Given the description of an element on the screen output the (x, y) to click on. 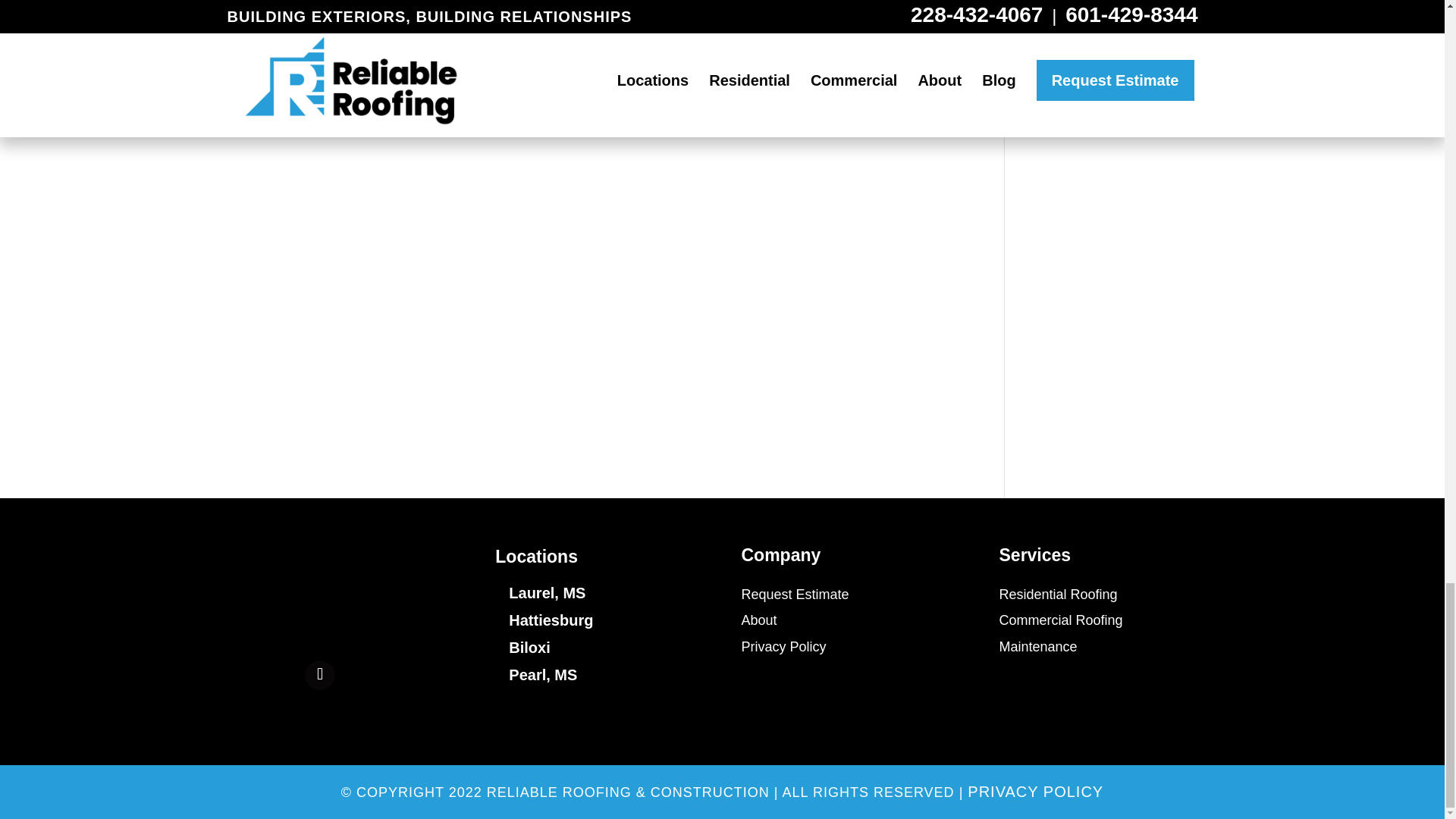
Privacy Policy (784, 646)
Commercial Roofing (1060, 620)
Maintenance (1037, 646)
Laurel, MS (546, 592)
Residential Roofing (1058, 594)
PRIVACY POLICY (1035, 791)
Hattiesburg (550, 619)
reliable-roofing-official-logo blue and white-02 (319, 594)
About (759, 620)
Pearl, MS (542, 674)
